Given the description of an element on the screen output the (x, y) to click on. 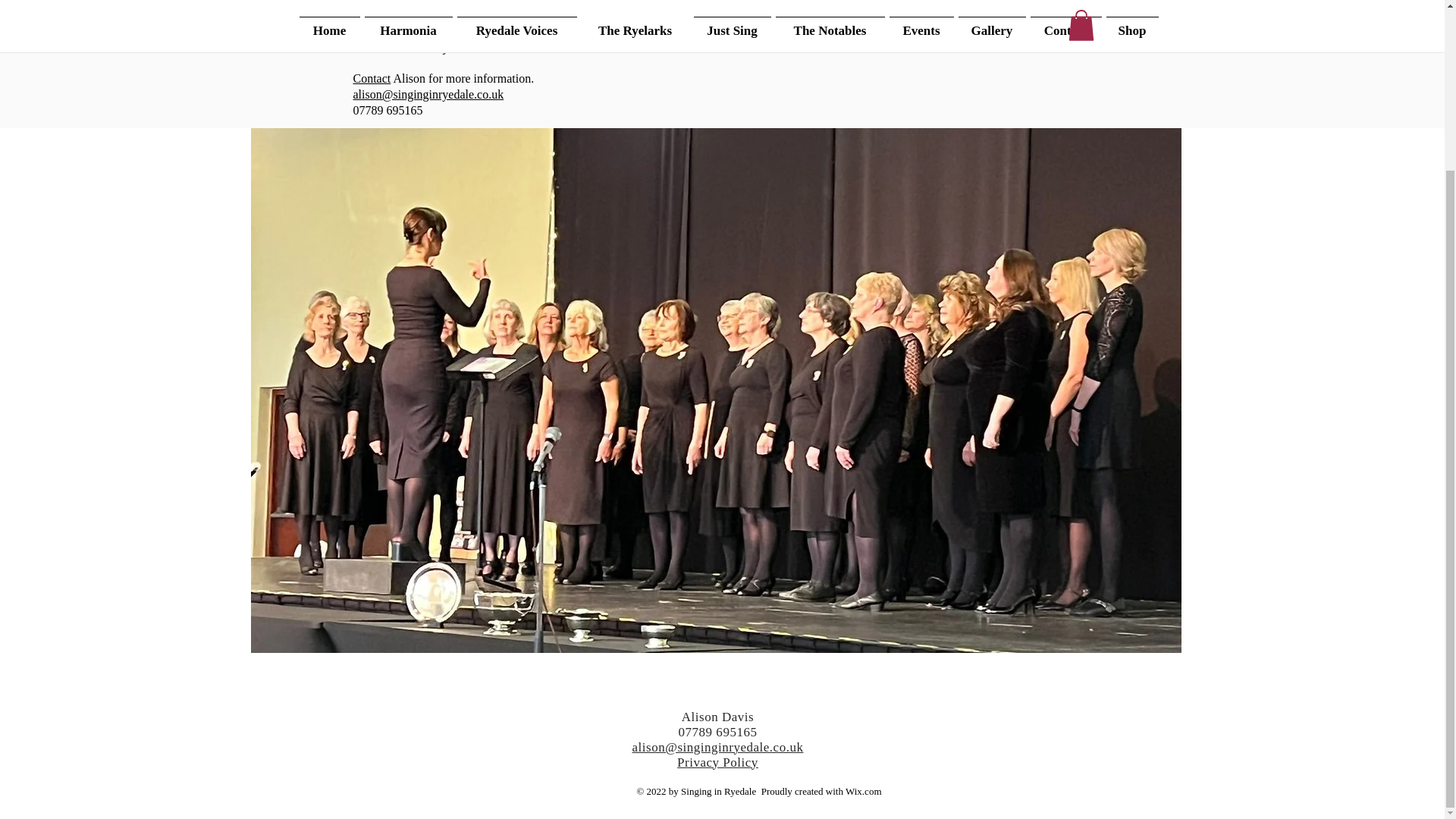
events. (689, 2)
Privacy Policy (717, 762)
Wix.com (863, 790)
Contact (372, 78)
